Given the description of an element on the screen output the (x, y) to click on. 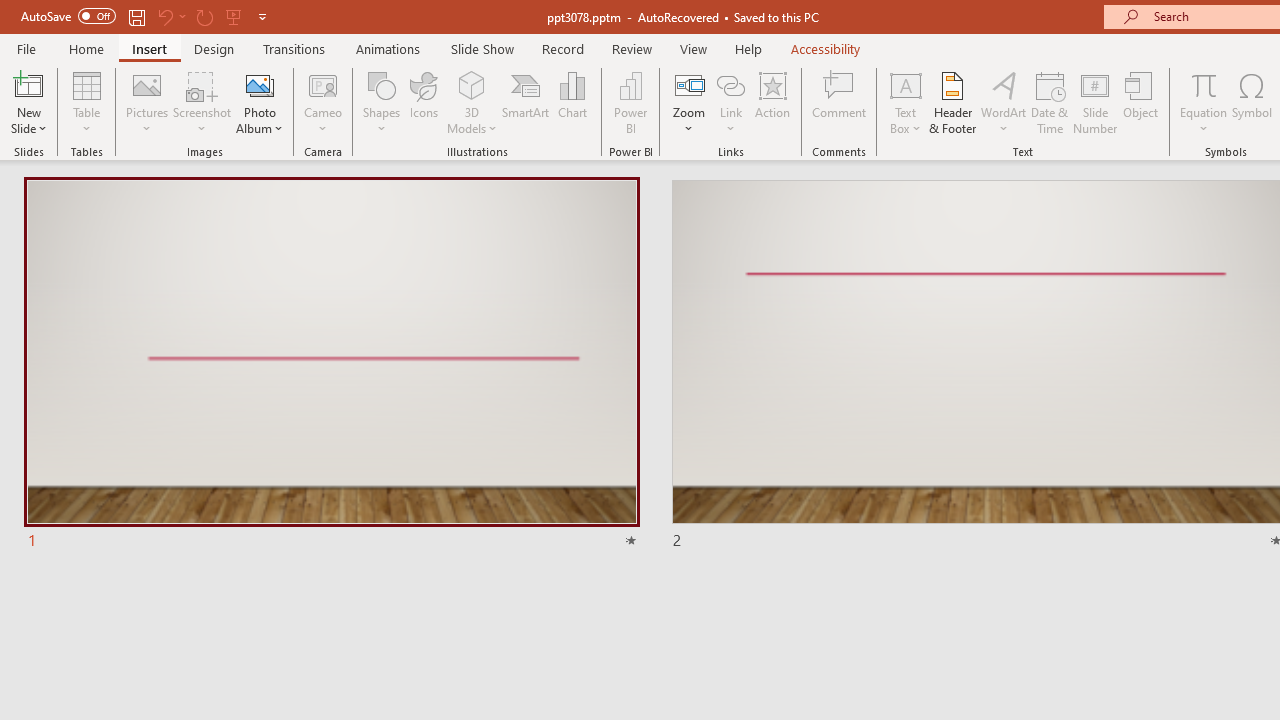
Slide (331, 365)
Design (214, 48)
Table (86, 102)
Insert (149, 48)
Animations (388, 48)
3D Models (472, 84)
New Photo Album... (259, 84)
New Slide (28, 84)
Slide Number (1095, 102)
View (693, 48)
Draw Horizontal Text Box (905, 84)
